Given the description of an element on the screen output the (x, y) to click on. 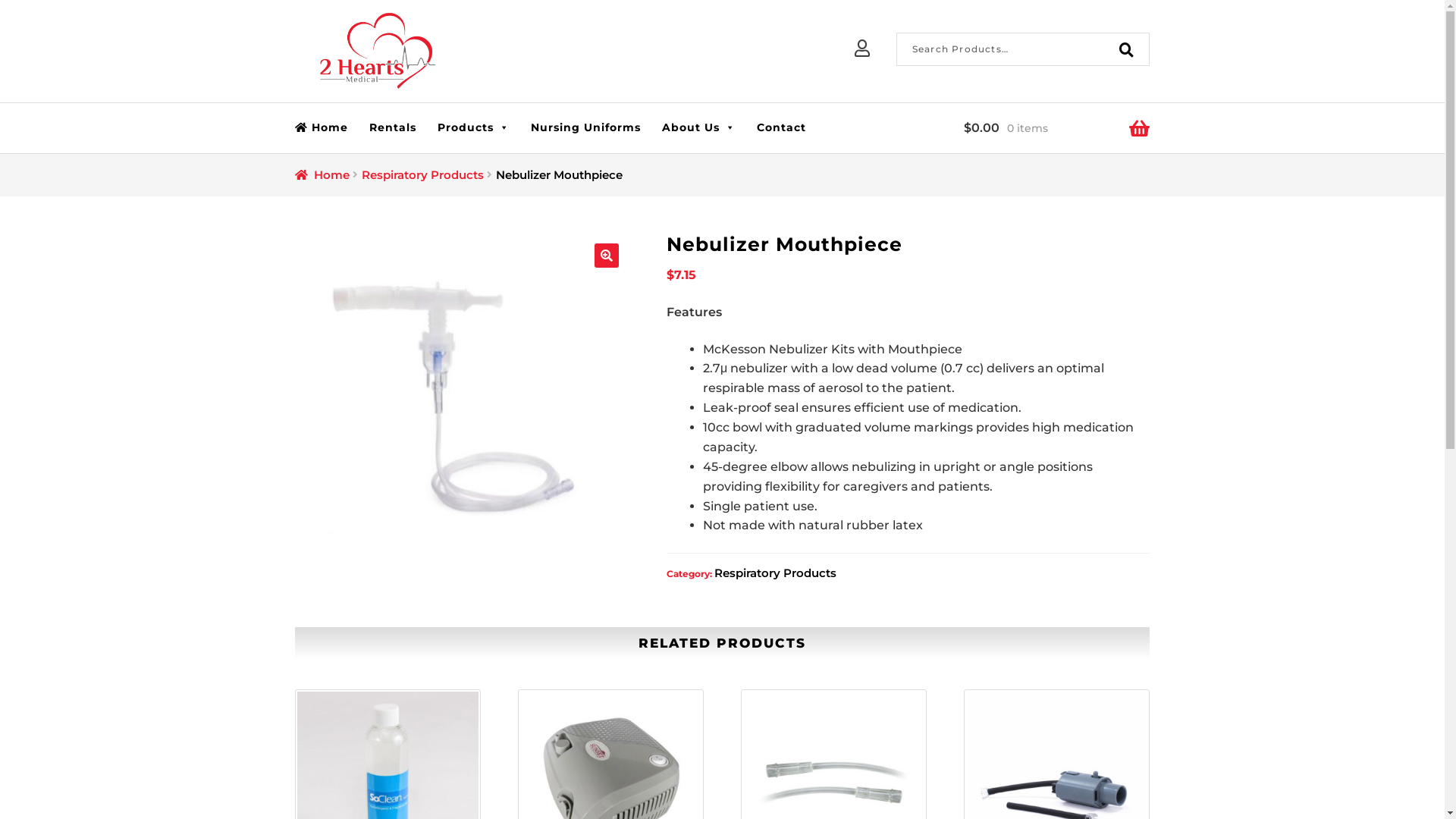
Home Element type: text (321, 174)
About Us Element type: text (698, 127)
Contact Element type: text (781, 127)
$0.00 0 items Element type: text (1056, 128)
Search Element type: text (895, 31)
Rentals Element type: text (392, 127)
 Home Element type: text (326, 127)
Skip to navigation Element type: text (294, 54)
Products Element type: text (473, 127)
Nebulizer-Mouthpiece Element type: hover (461, 399)
Respiratory Products Element type: text (422, 174)
Respiratory Products Element type: text (775, 572)
Nursing Uniforms Element type: text (585, 127)
